Given the description of an element on the screen output the (x, y) to click on. 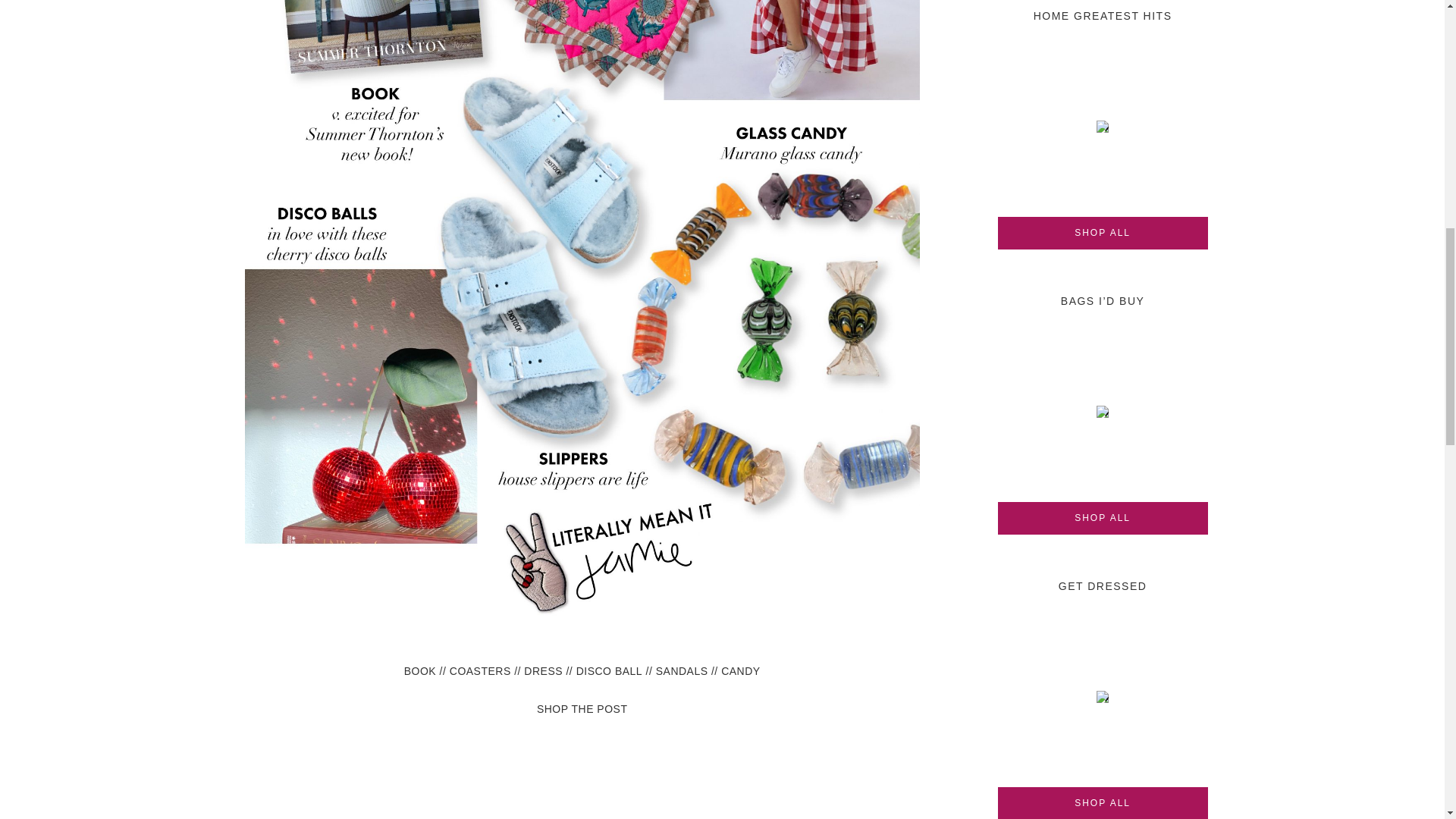
DRESS (543, 671)
SANDALS (681, 671)
COASTERS (480, 671)
BOOK (419, 671)
CANDY (740, 671)
DISCO BALL (609, 671)
